Given the description of an element on the screen output the (x, y) to click on. 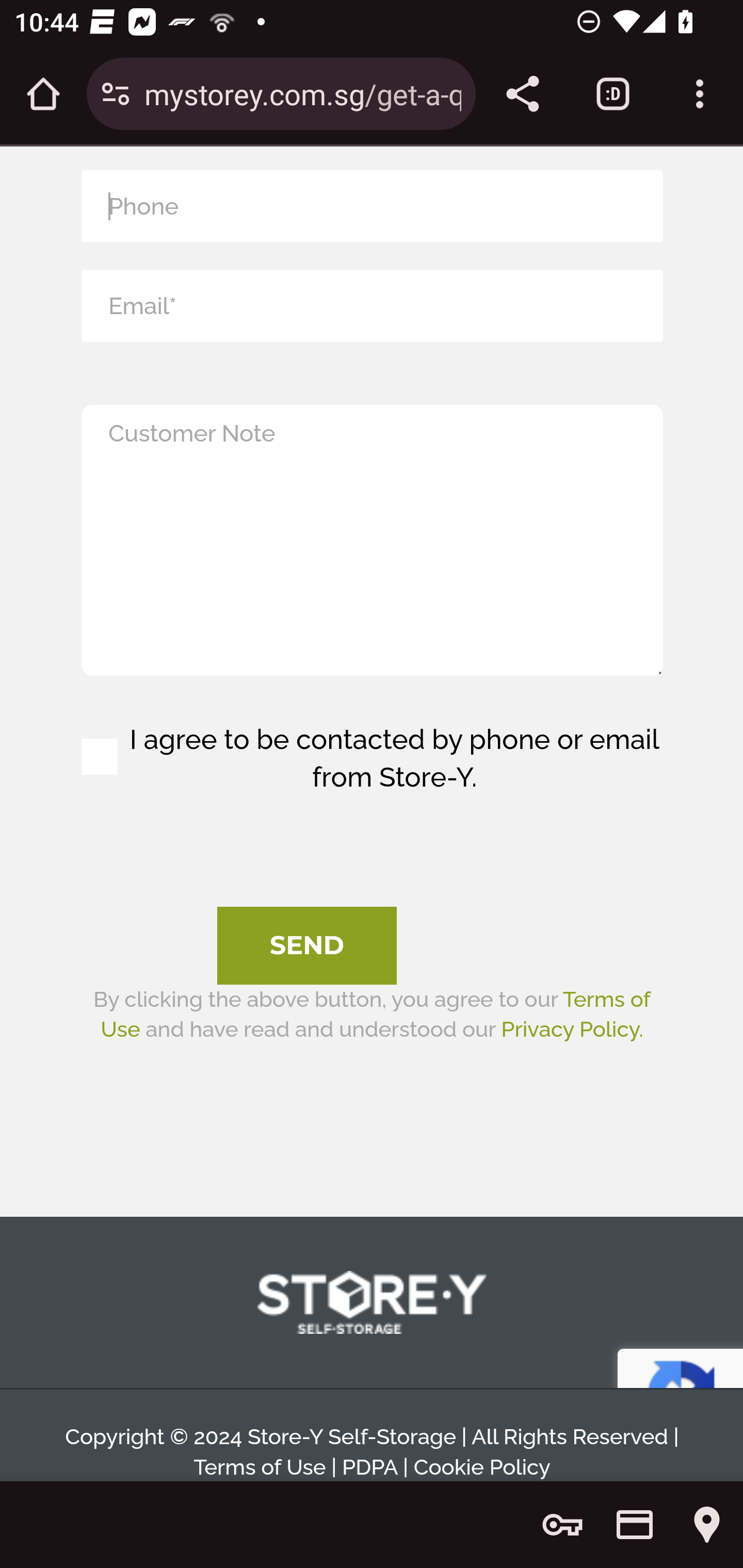
Open the home page (43, 93)
Connection is secure (115, 93)
Share (522, 93)
Switch or close tabs (612, 93)
Customize and control Google Chrome (699, 93)
mystorey.com.sg/get-a-quote/ (302, 92)
Send (306, 946)
Terms of Use (374, 1014)
Privacy Policy. (572, 1029)
store-y logo no background | Store-y Self Storage (371, 1303)
Terms of Use (259, 1468)
PDPA (369, 1468)
Cookie Policy (480, 1468)
Show saved passwords and password options (562, 1524)
Show saved payment methods (634, 1524)
Show saved addresses (706, 1524)
